Given the description of an element on the screen output the (x, y) to click on. 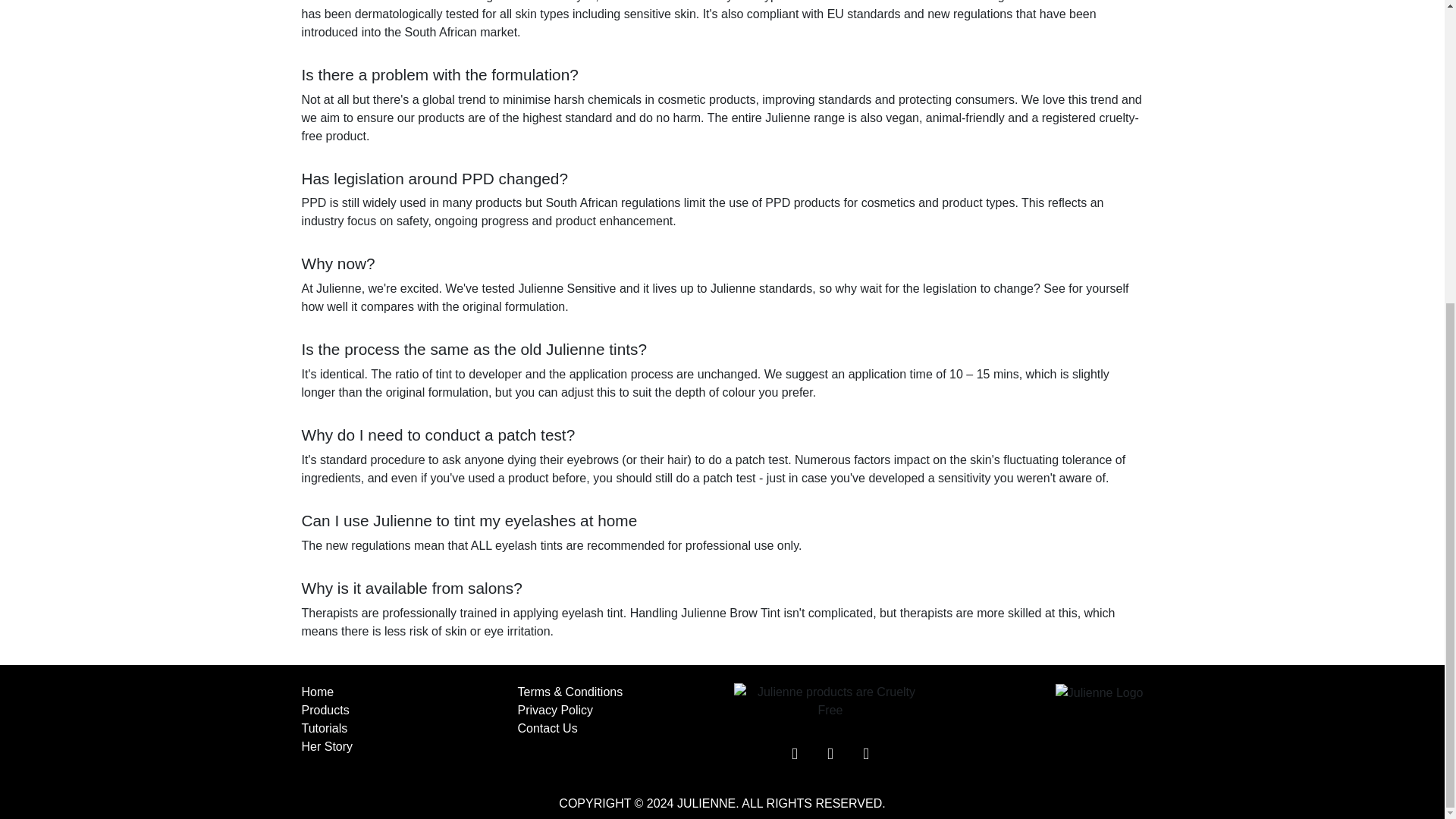
Contact Us (546, 727)
Home (317, 691)
Her Story (327, 746)
Products (325, 709)
Privacy Policy (554, 709)
Tutorials (324, 727)
